Given the description of an element on the screen output the (x, y) to click on. 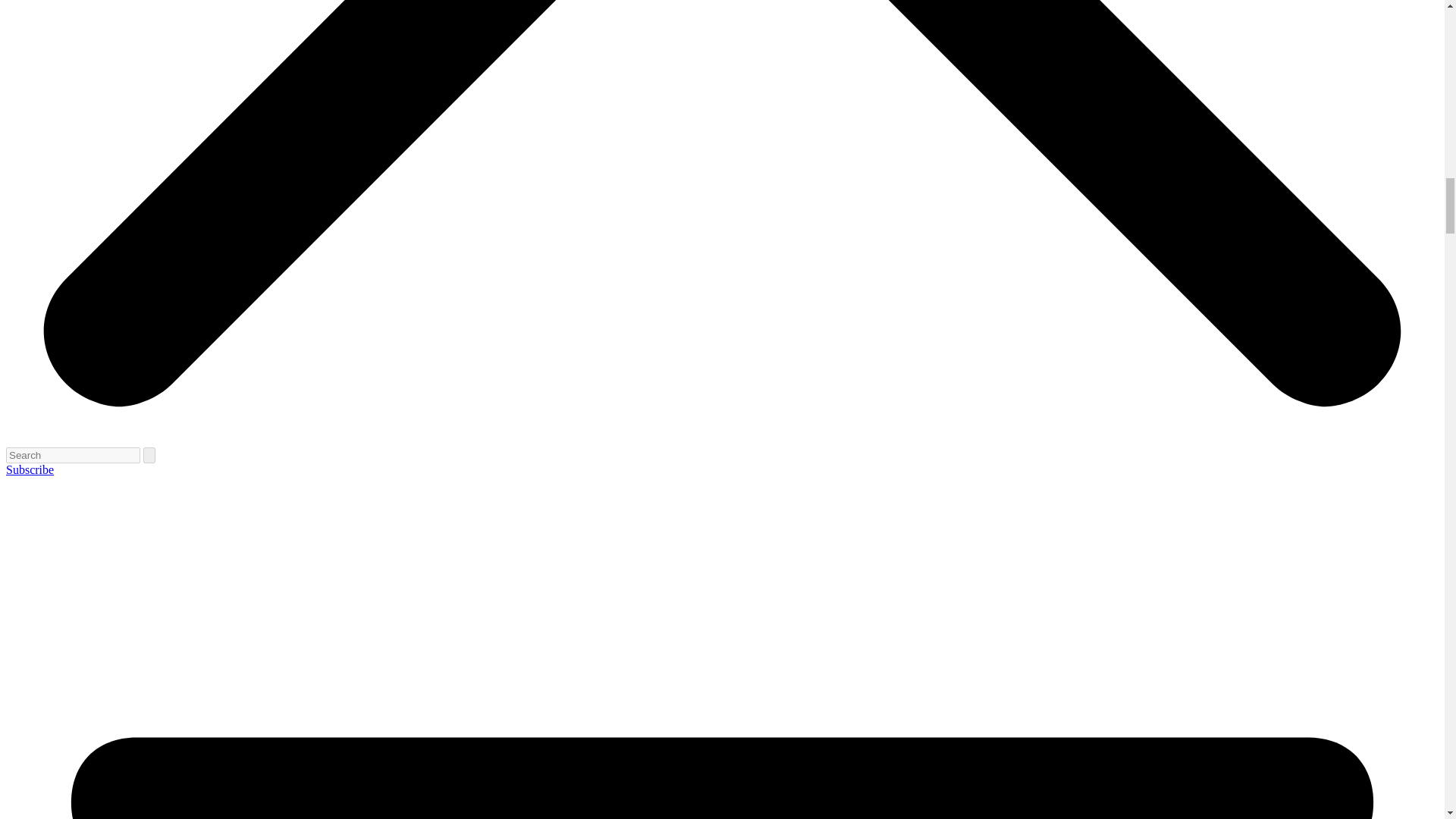
Subscribe (29, 469)
